Given the description of an element on the screen output the (x, y) to click on. 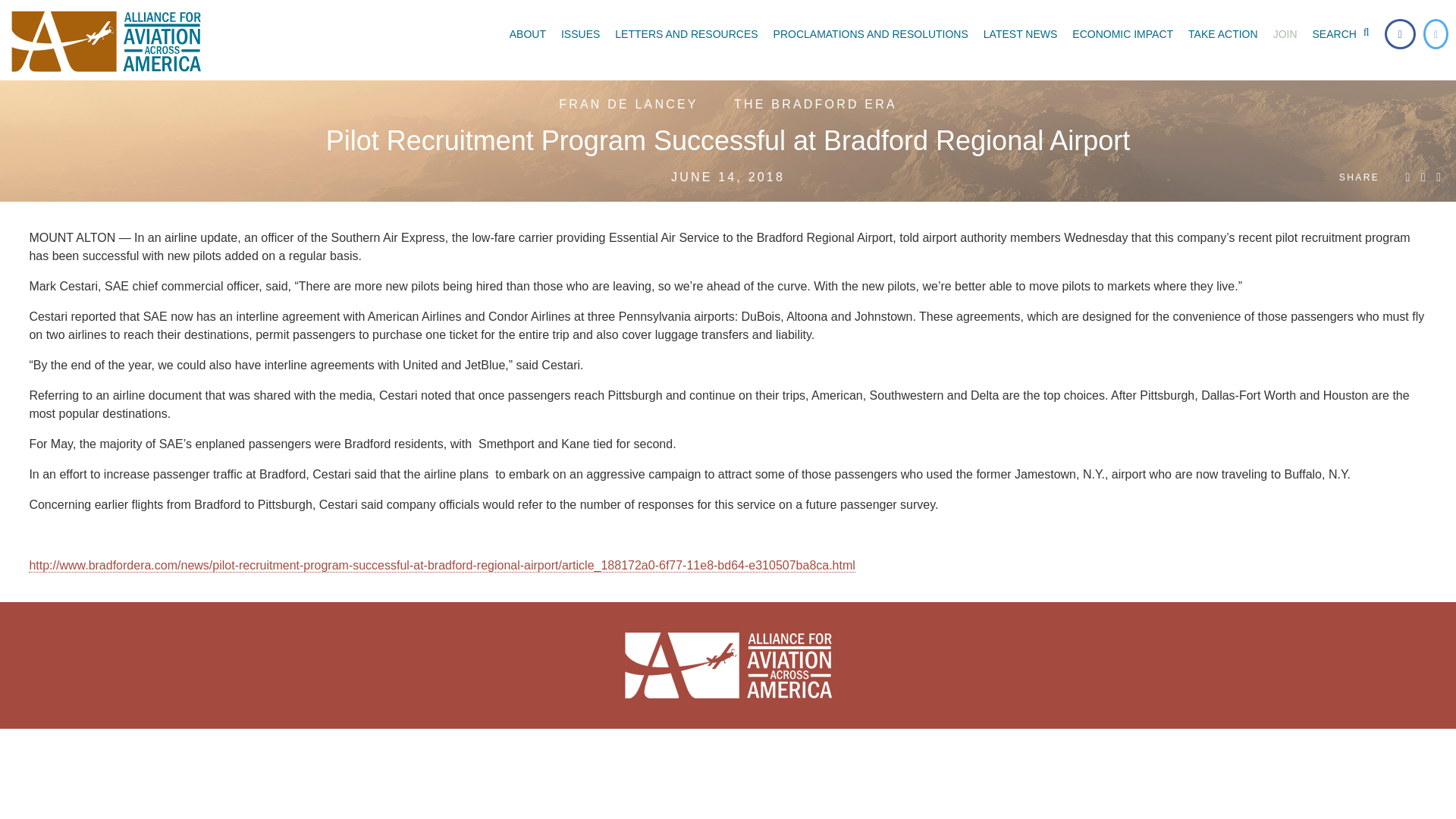
TAKE ACTION (1222, 33)
LETTERS AND RESOURCES (686, 33)
LATEST NEWS (1020, 33)
ECONOMIC IMPACT (1122, 33)
JOIN (1284, 33)
ABOUT (527, 33)
SEARCH (1344, 33)
PROCLAMATIONS AND RESOLUTIONS (870, 33)
ISSUES (580, 33)
